Given the description of an element on the screen output the (x, y) to click on. 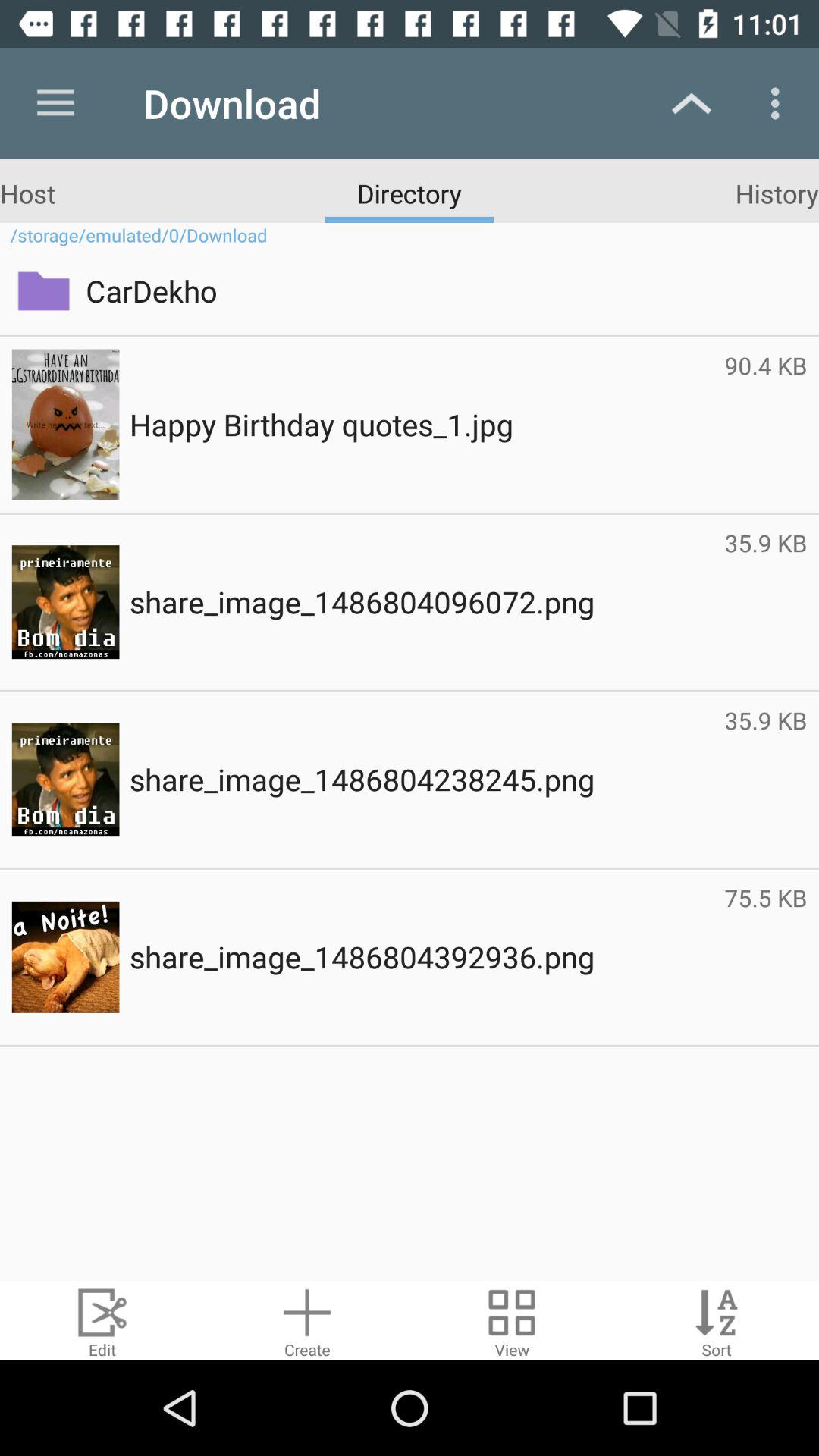
sort alphabetically (716, 1320)
